Given the description of an element on the screen output the (x, y) to click on. 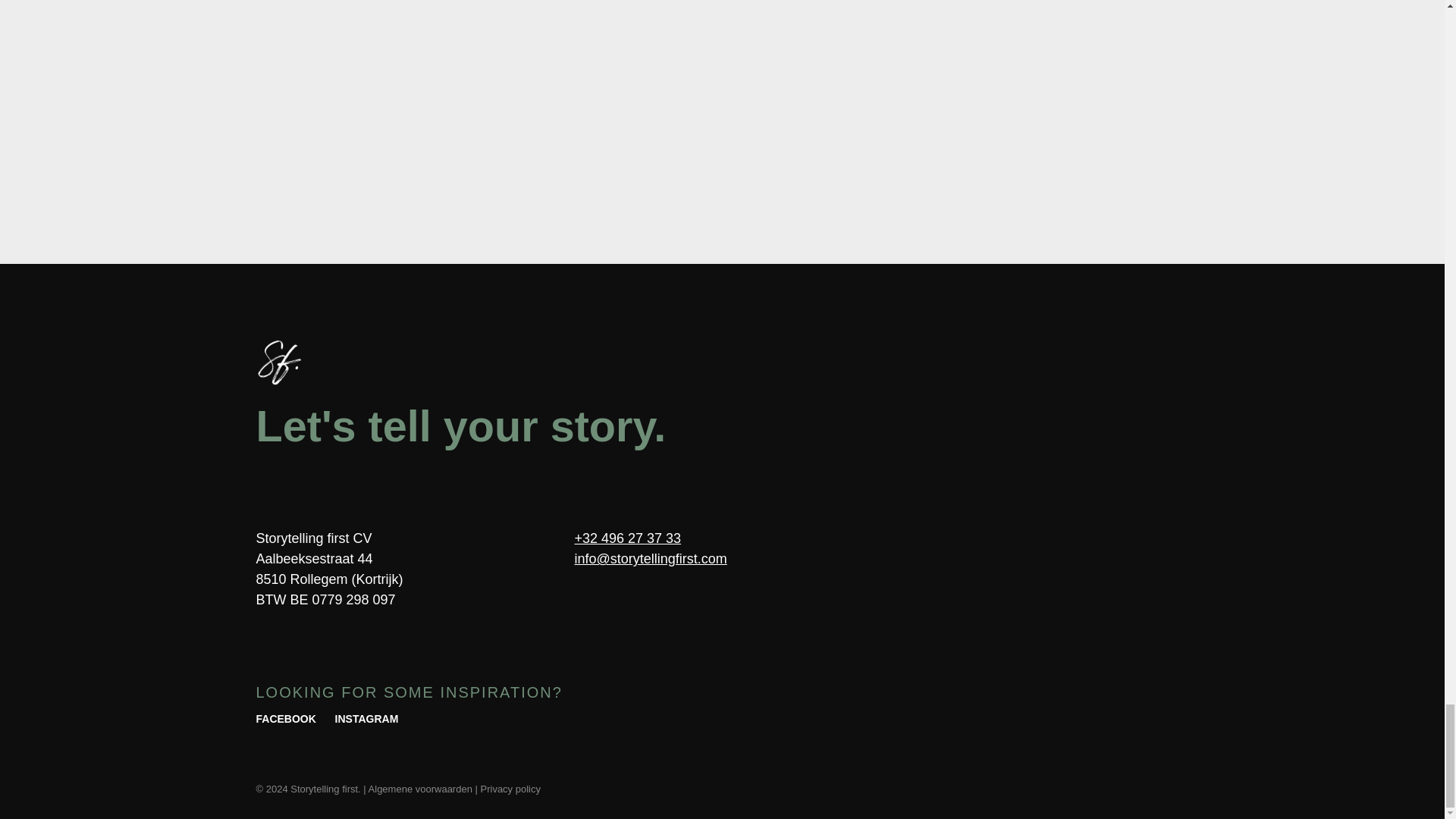
FACEBOOK (285, 721)
Privacy policy (510, 788)
INSTAGRAM (366, 721)
Algemene voorwaarden (419, 788)
